Given the description of an element on the screen output the (x, y) to click on. 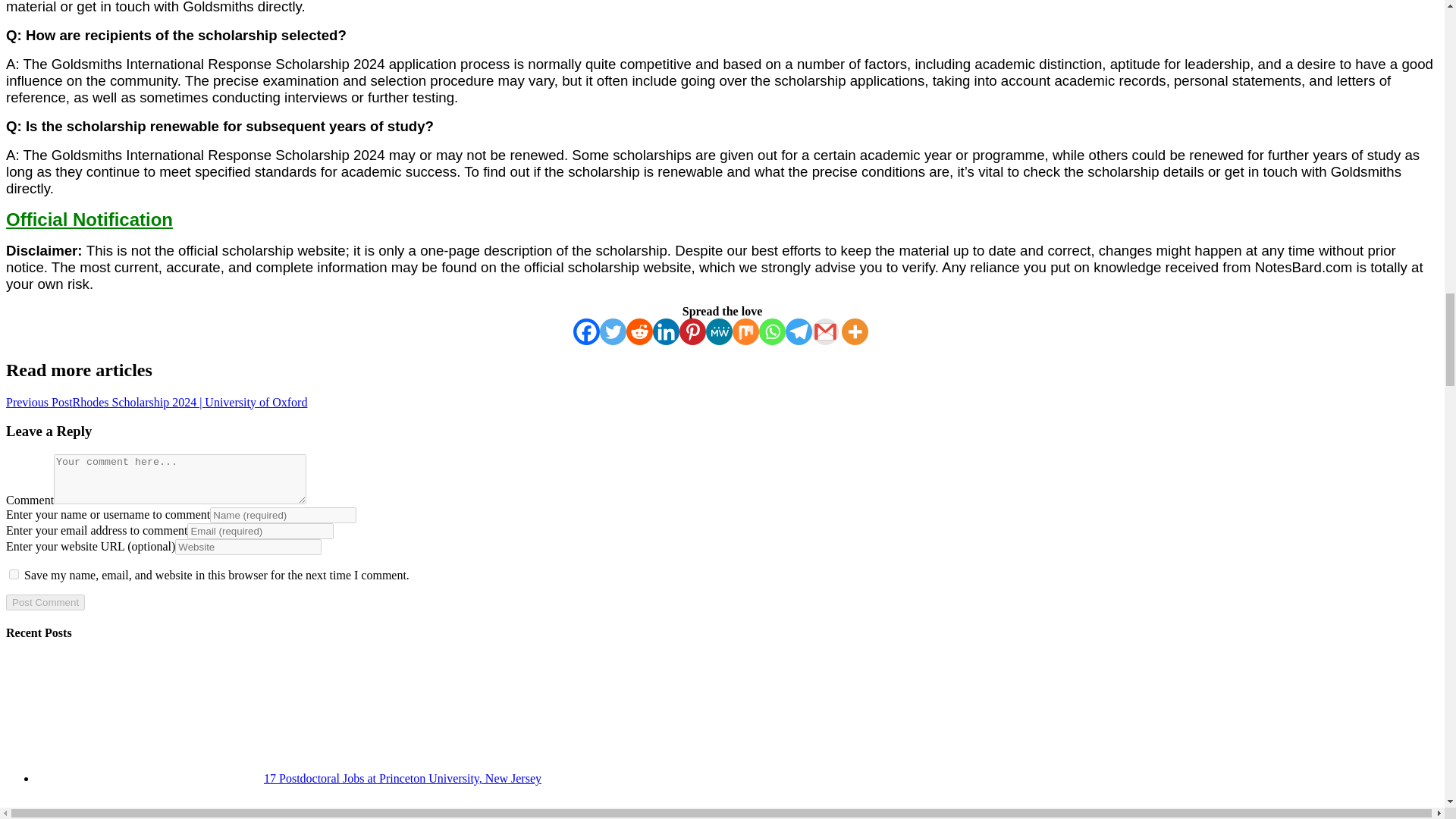
Reddit (639, 331)
yes (13, 574)
Twitter (612, 331)
Facebook (586, 331)
Telegram (799, 331)
Post Comment (44, 602)
17 Postdoctoral Jobs at Princeton University, New Jersey (288, 778)
More (854, 331)
Google Gmail (825, 331)
Pinterest (692, 331)
